Given the description of an element on the screen output the (x, y) to click on. 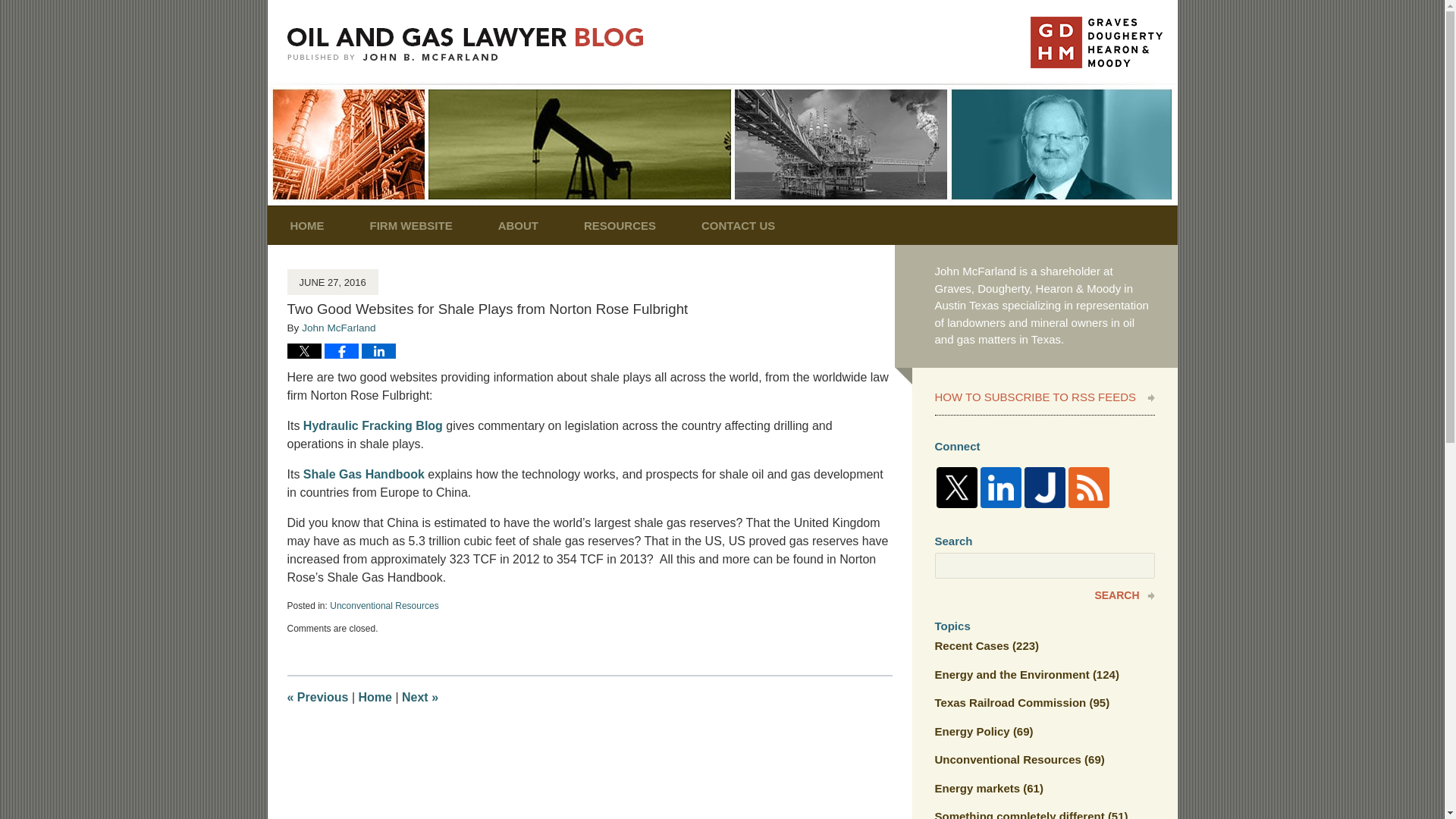
John McFarland (338, 327)
HOME (306, 225)
SEARCH (1044, 594)
Hydraulic Fracking Blog (372, 425)
RESOURCES (619, 225)
Published By John McFarland (1095, 41)
Unconventional Resources (384, 605)
LinkedIn (1000, 486)
Twitter (956, 486)
FIRM WEBSITE (411, 225)
HOW TO SUBSCRIBE TO RSS FEEDS (1044, 398)
Home (374, 697)
Shale Gas Handbook (363, 473)
ABOUT (518, 225)
Justia (1043, 486)
